Given the description of an element on the screen output the (x, y) to click on. 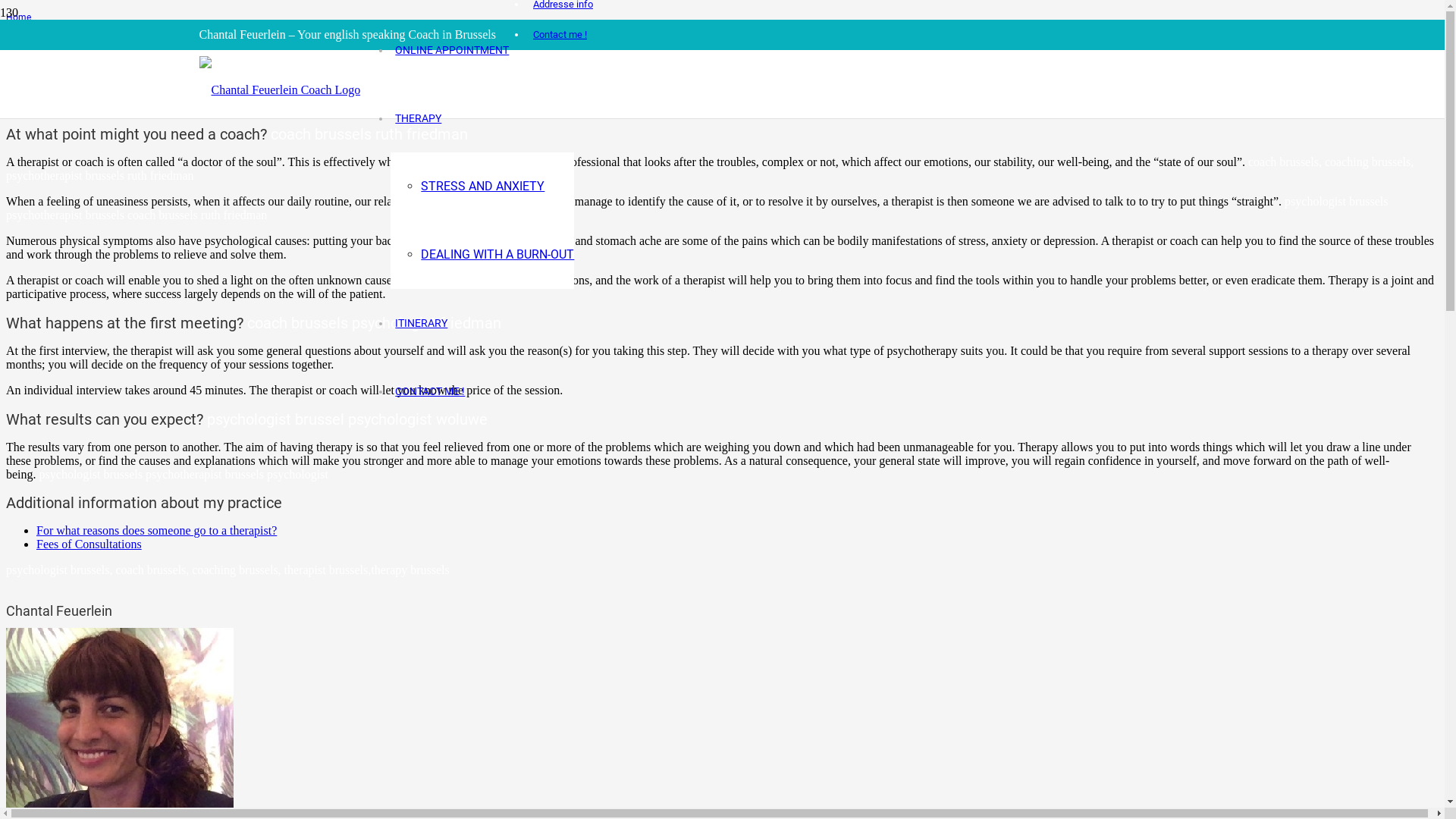
ITINERARY Element type: text (420, 322)
Contact me ! Element type: text (559, 34)
CONTACT ME ! Element type: text (429, 391)
STRESS AND ANXIETY Element type: text (482, 185)
THERAPY Element type: text (417, 118)
Fees of Consultations Element type: text (88, 543)
Home Element type: text (18, 17)
ONLINE APPOINTMENT Element type: text (451, 49)
DEALING WITH A BURN-OUT Element type: text (497, 254)
For what reasons does someone go to a therapist? Element type: text (156, 530)
